Given the description of an element on the screen output the (x, y) to click on. 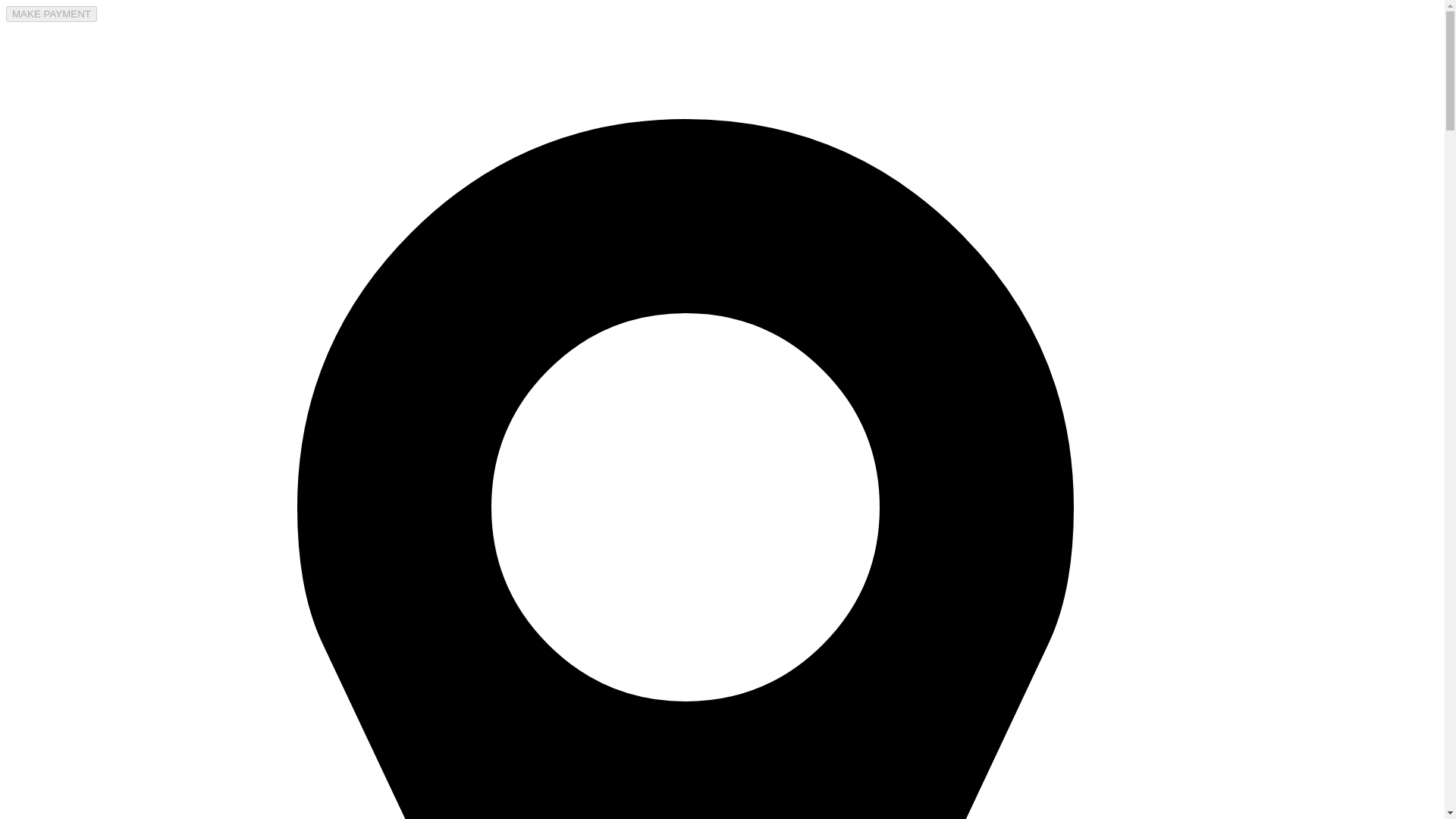
MAKE PAYMENT (51, 13)
MAKE PAYMENT (51, 13)
